Given the description of an element on the screen output the (x, y) to click on. 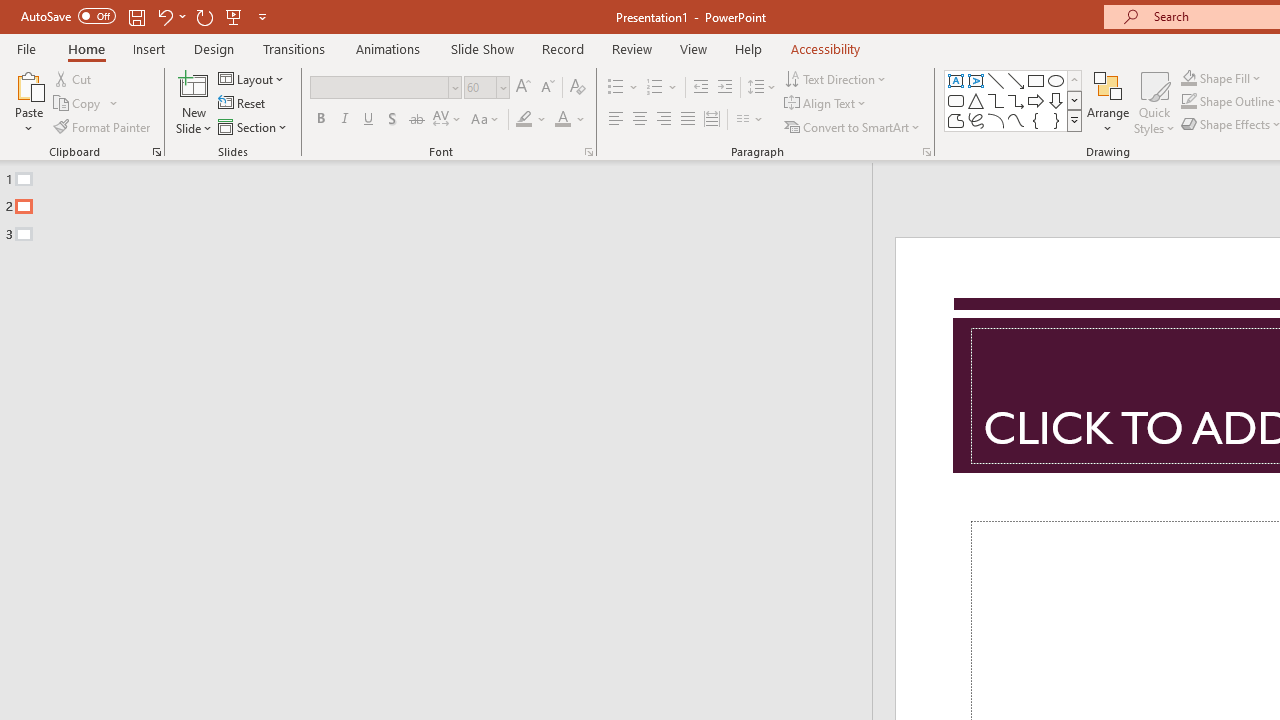
Shape Outline Blue, Accent 1 (1188, 101)
